Given the description of an element on the screen output the (x, y) to click on. 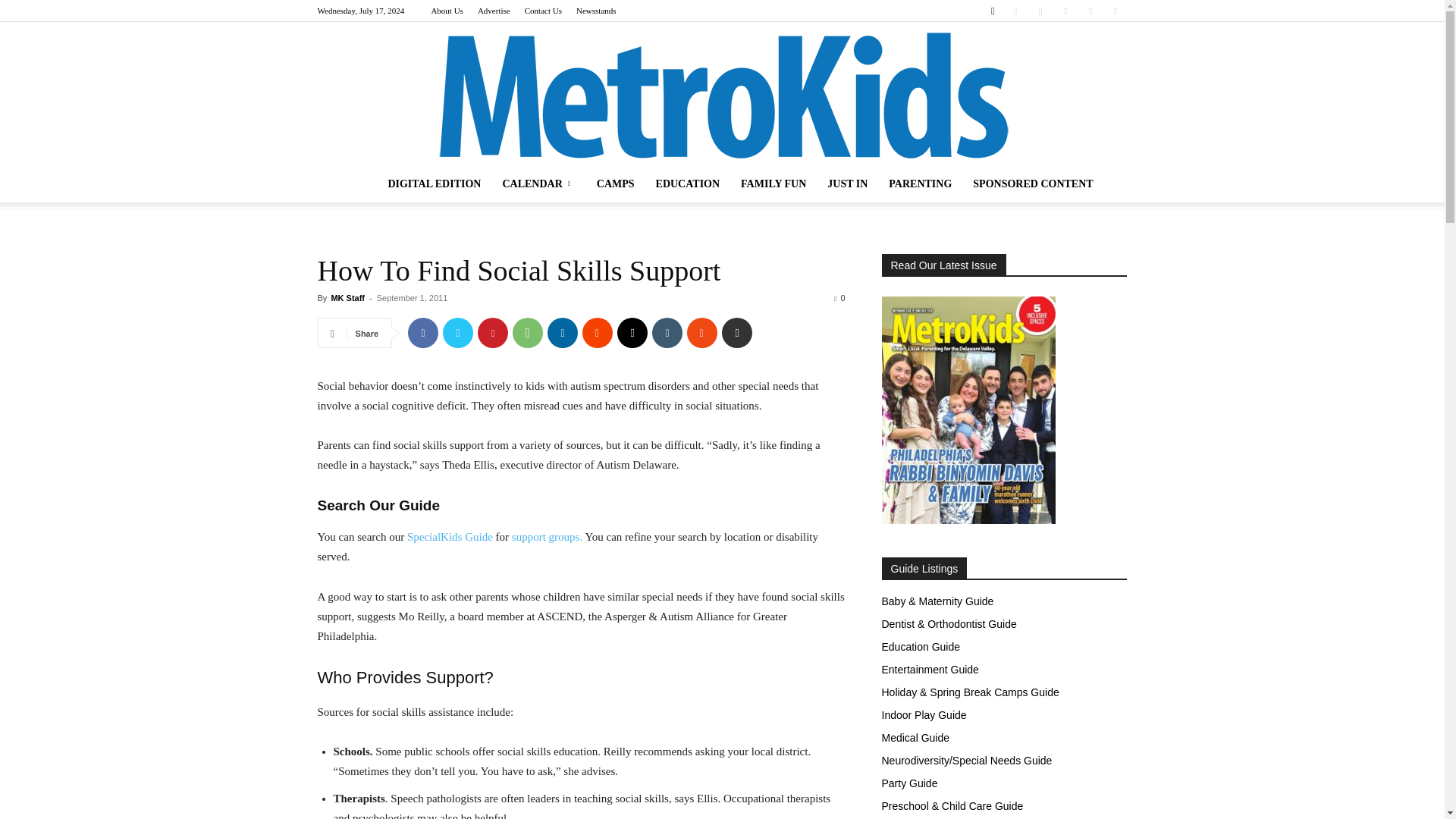
Facebook (1015, 10)
About Us (446, 10)
Twitter (1090, 10)
CAMPS (615, 184)
Facebook (422, 332)
Newsstands (595, 10)
Instagram (1040, 10)
Youtube (1114, 10)
Pinterest (492, 332)
EDUCATION (687, 184)
CALENDAR (538, 184)
Twitter (457, 332)
Metrokids Magazine (722, 94)
Advertise (494, 10)
Search (1085, 64)
